Given the description of an element on the screen output the (x, y) to click on. 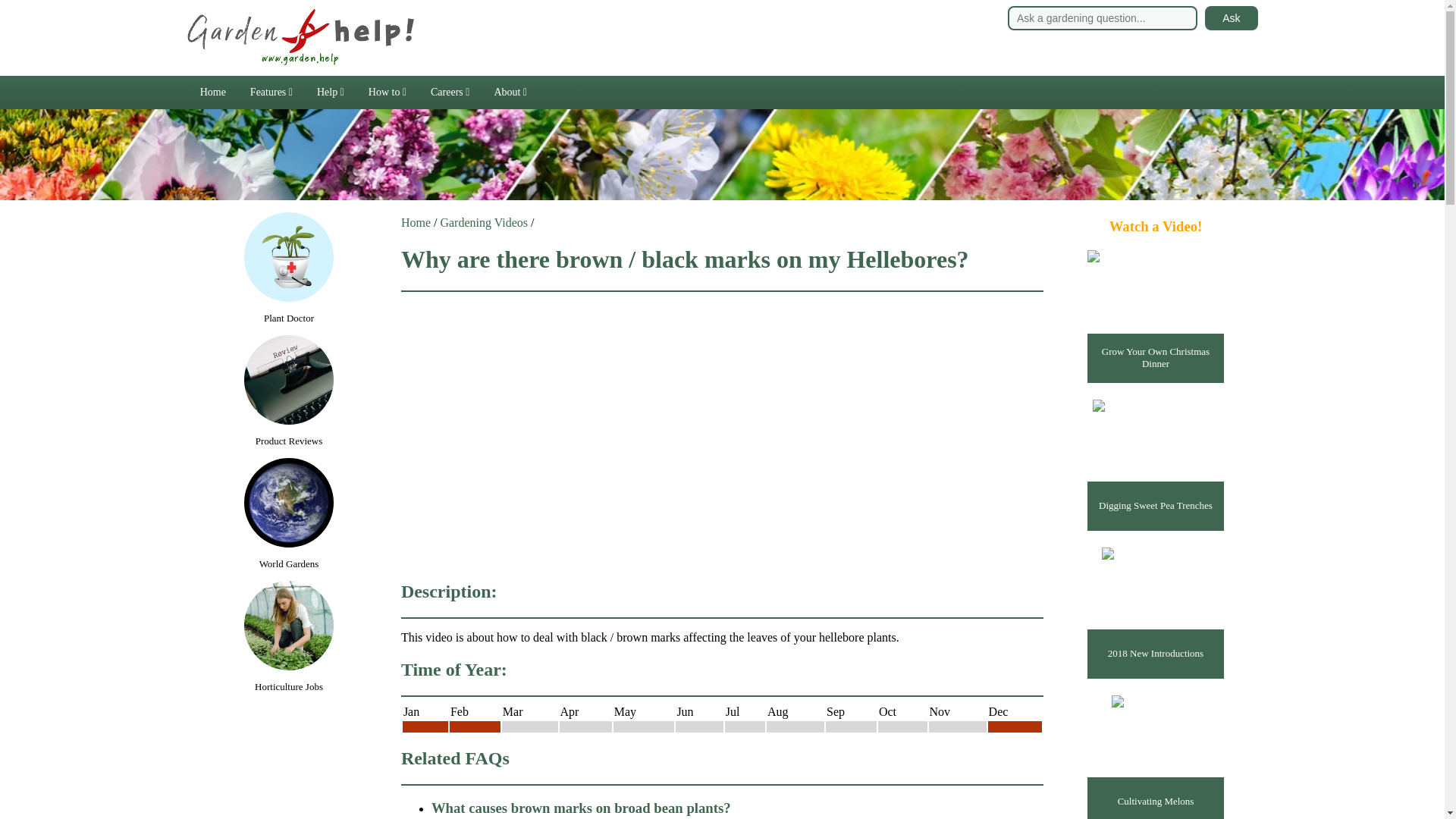
Features (271, 92)
Home (212, 92)
Advertisement (288, 766)
Ask (1231, 17)
Help (330, 92)
